Given the description of an element on the screen output the (x, y) to click on. 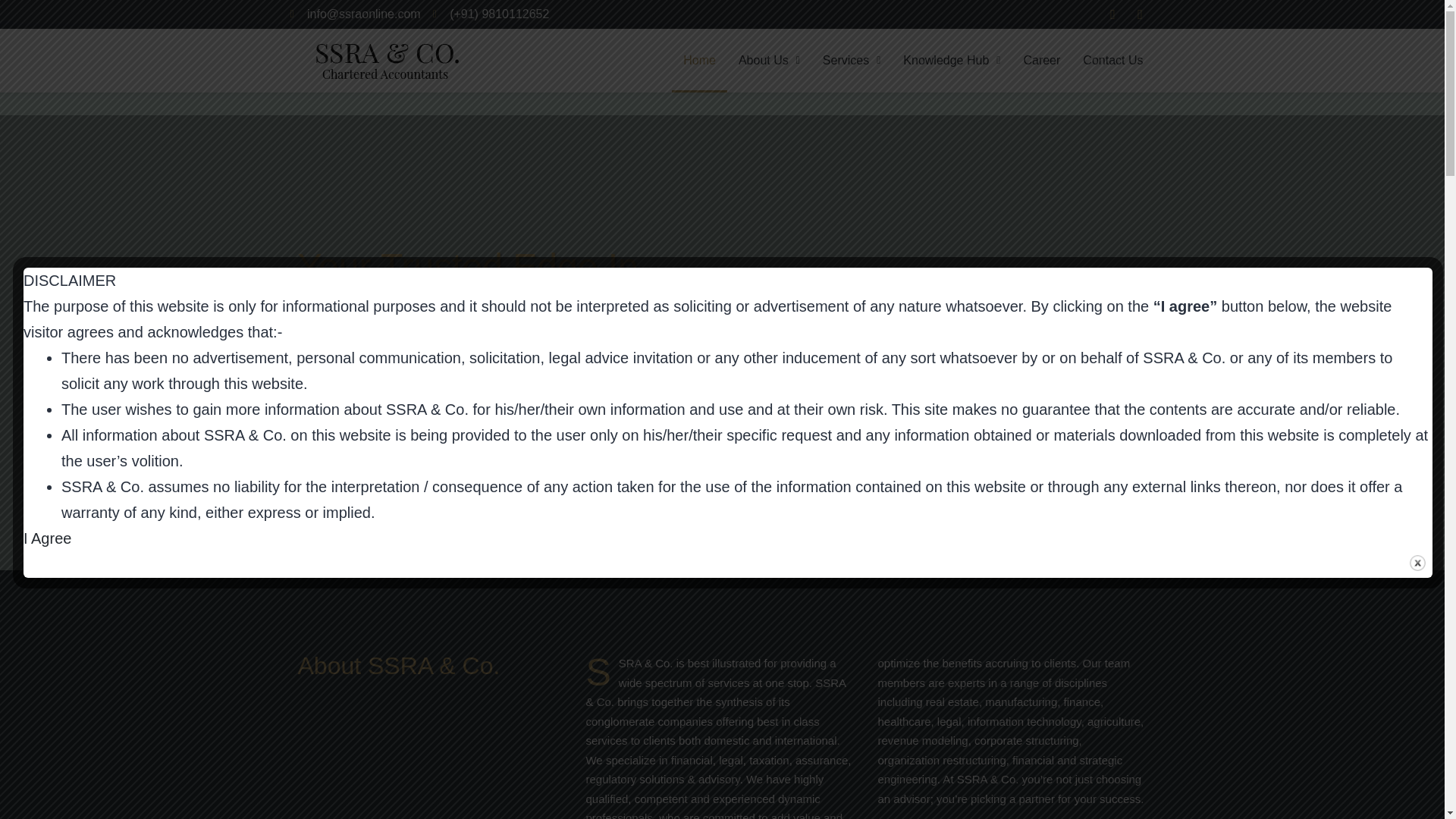
Services (850, 60)
About Us (768, 60)
